Given the description of an element on the screen output the (x, y) to click on. 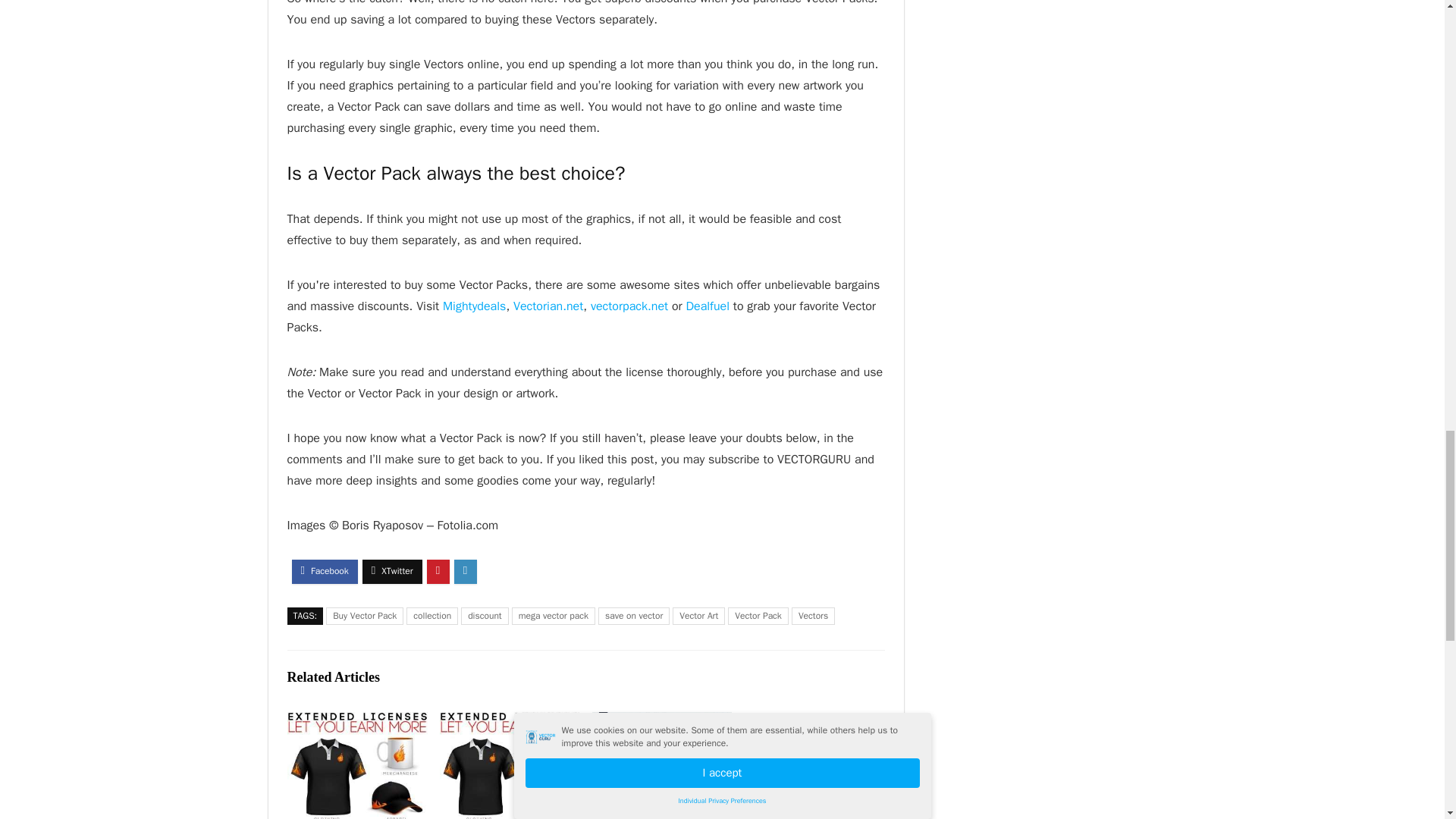
Vector Pack (758, 615)
Buy Vector Pack (364, 615)
Vectors (813, 615)
collection (432, 615)
mega vector pack (553, 615)
discount (484, 615)
Vector Art (698, 615)
Dealfuel (707, 305)
Mightydeals (473, 305)
Vectorian.net (548, 305)
